Given the description of an element on the screen output the (x, y) to click on. 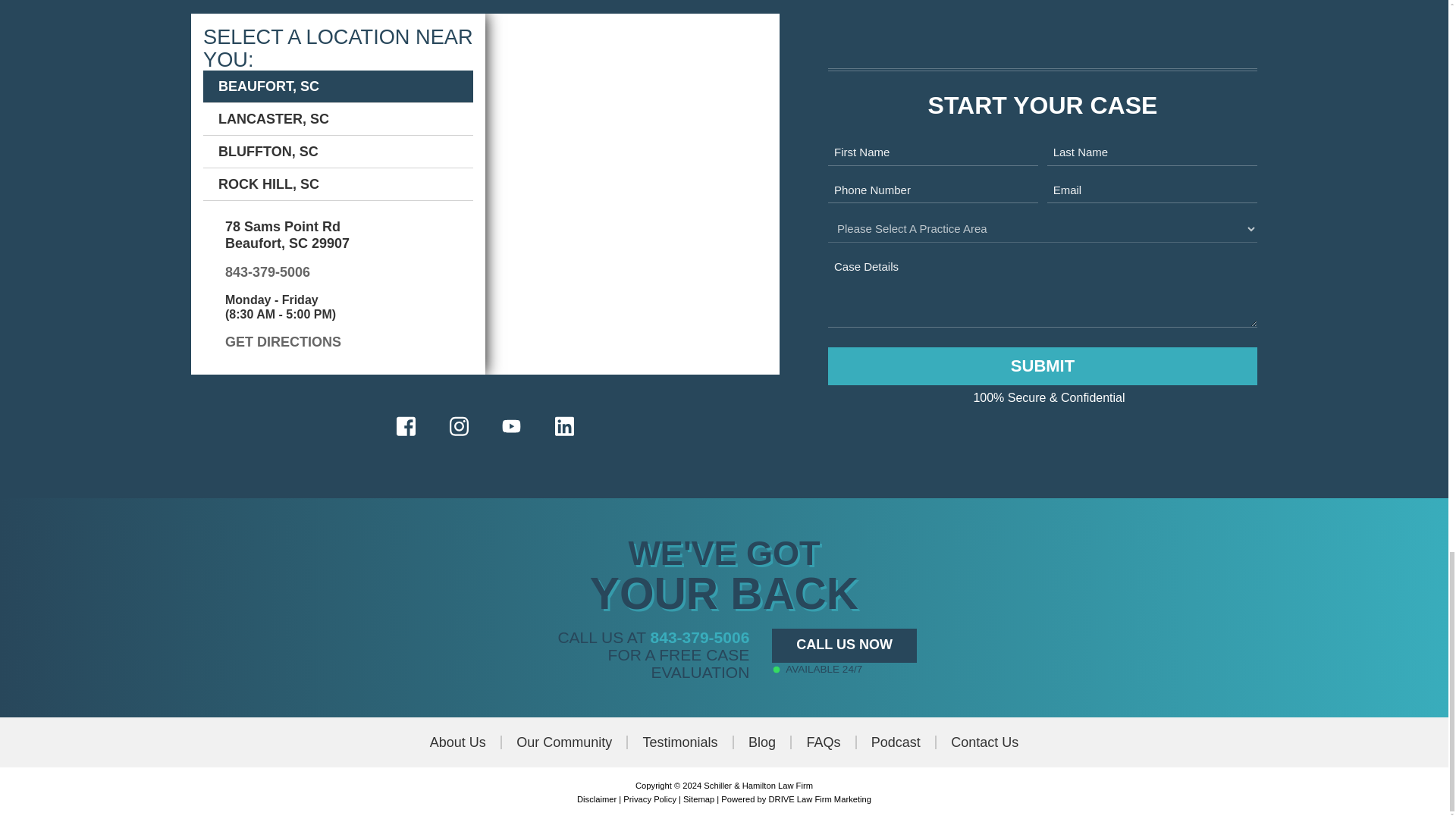
Facebook (406, 426)
Youtube (510, 426)
LinkedIn (564, 426)
Instagram (458, 426)
